Given the description of an element on the screen output the (x, y) to click on. 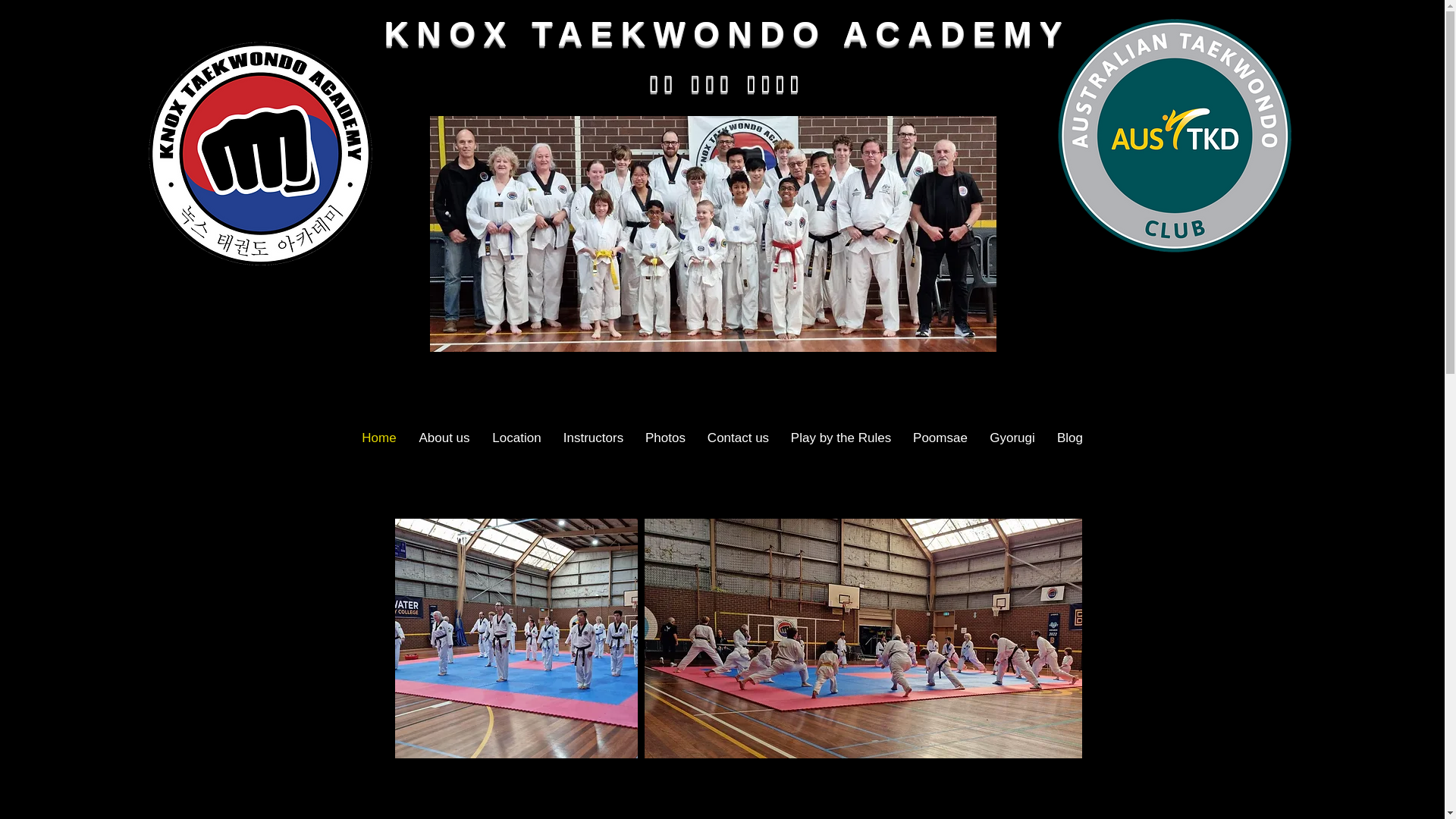
Instructors Element type: text (592, 438)
Gyorugi Element type: text (1011, 438)
About us Element type: text (444, 438)
Photos Element type: text (664, 438)
Play by the Rules Element type: text (840, 438)
Location Element type: text (516, 438)
Home Element type: text (378, 438)
Blog Element type: text (1070, 438)
Contact us Element type: text (737, 438)
Poomsae Element type: text (940, 438)
